Given the description of an element on the screen output the (x, y) to click on. 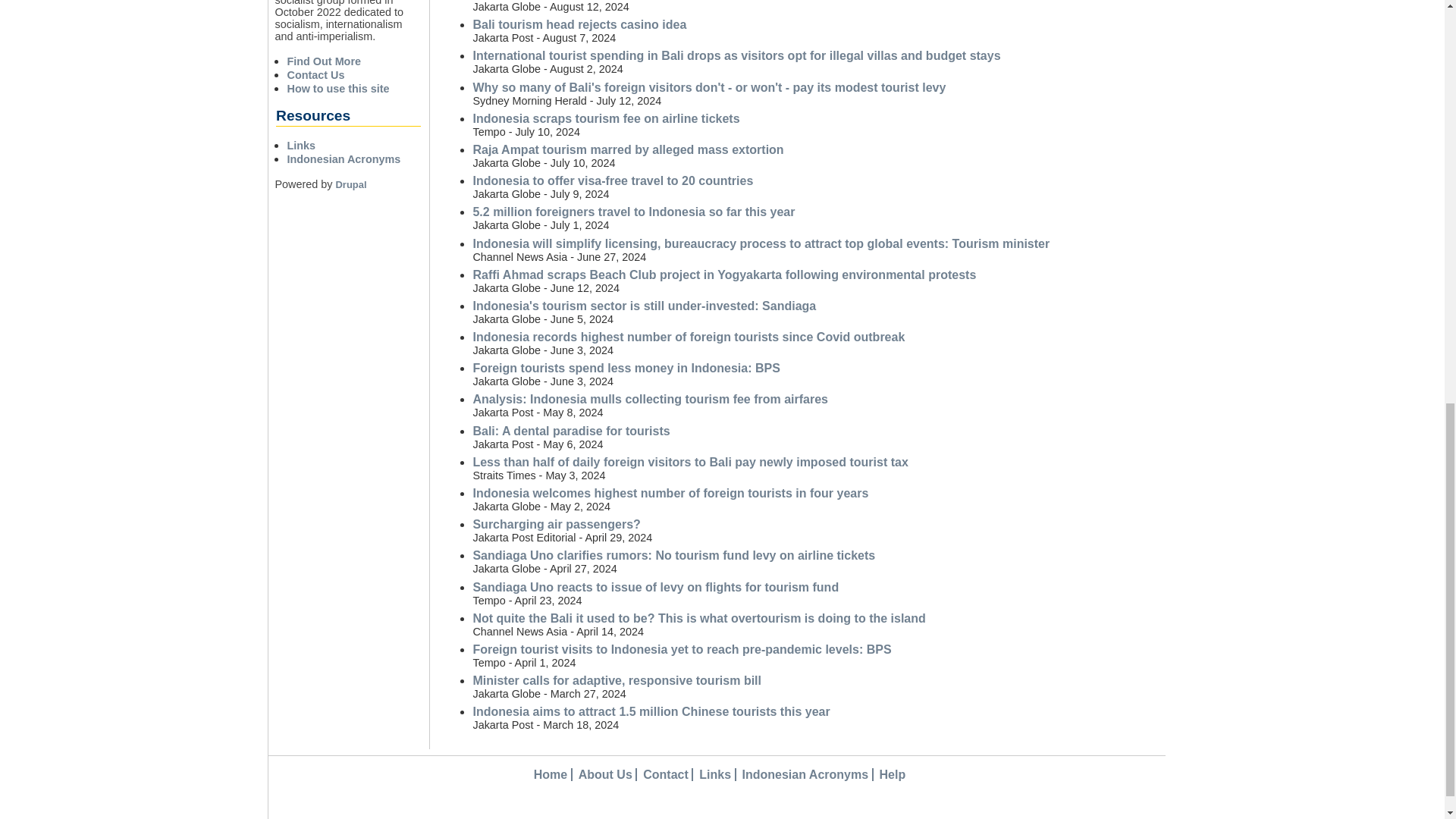
Raja Ampat tourism marred by alleged mass extortion (627, 149)
Bali: A dental paradise for tourists (570, 431)
Foreign tourists spend less money in Indonesia: BPS (624, 367)
Surcharging air passengers? (555, 523)
